Given the description of an element on the screen output the (x, y) to click on. 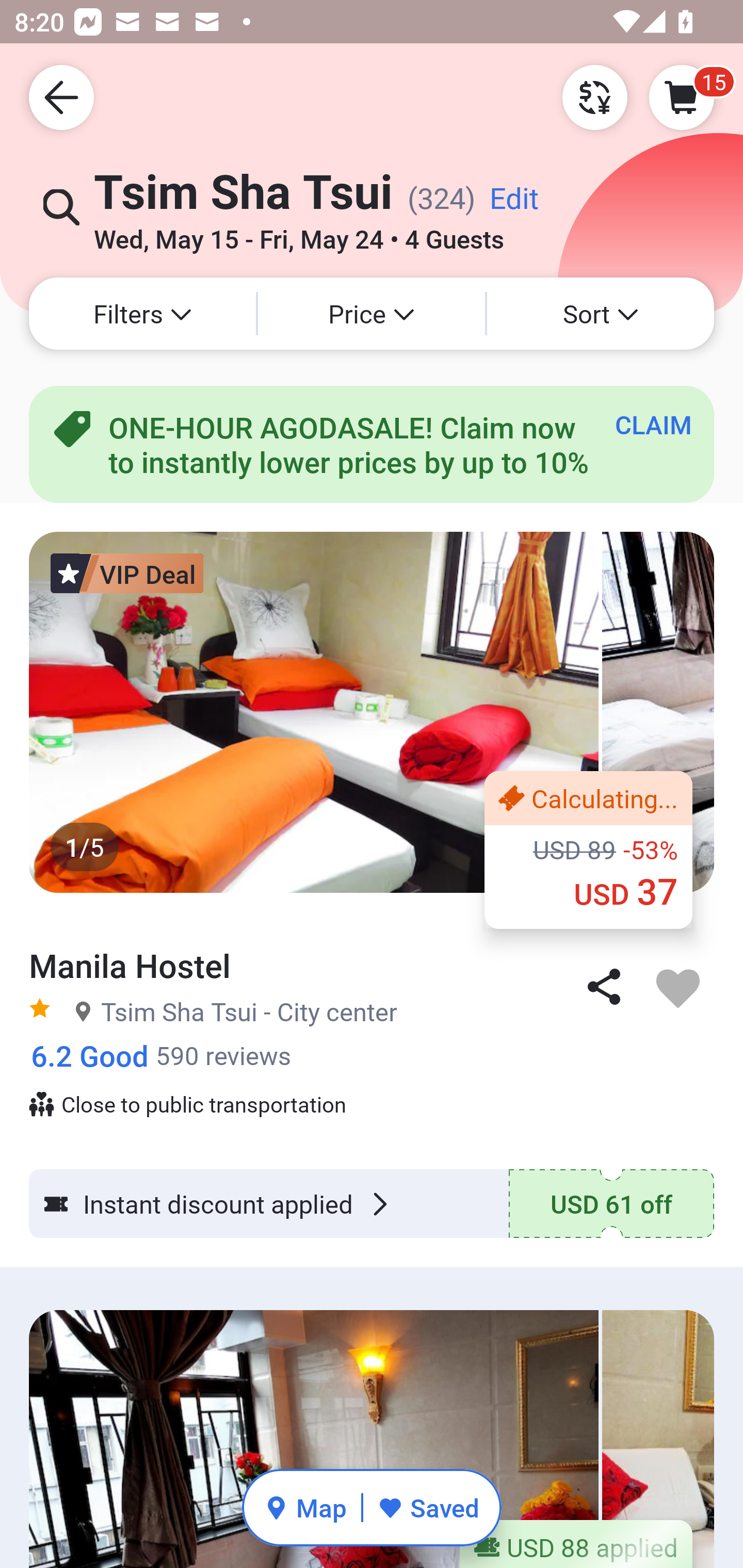
Filters (141, 313)
Price (371, 313)
Sort (600, 313)
CLAIM (653, 424)
VIP Deal (126, 572)
1/5 (371, 711)
Calculating... ‪USD 89 -53% ‪USD 37 (588, 849)
Instant discount applied USD 61 off (371, 1203)
Map (305, 1507)
Saved (428, 1507)
USD 88 applied (575, 1543)
